Given the description of an element on the screen output the (x, y) to click on. 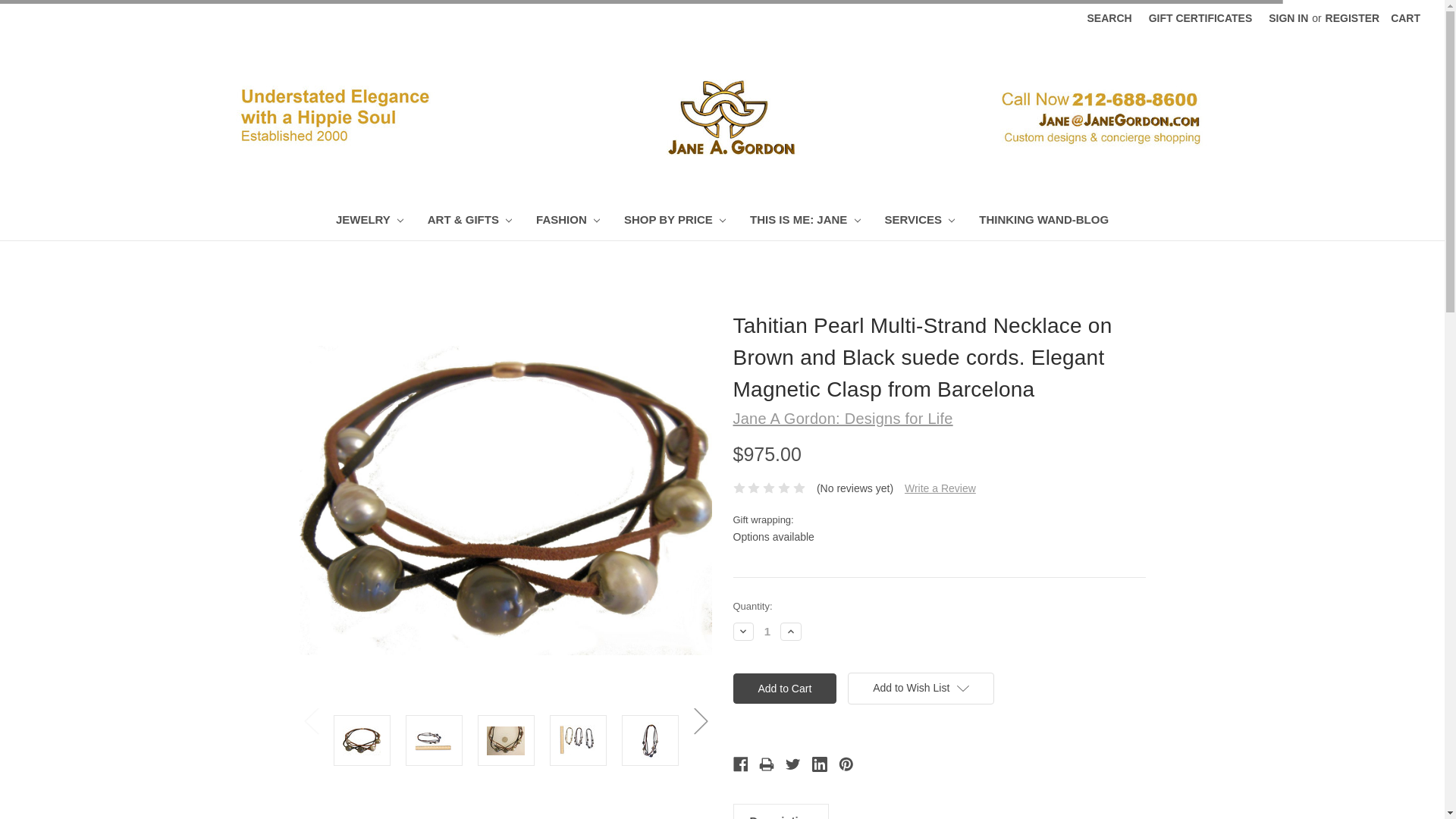
CART (1404, 18)
Jane A Gordon Jewelry - Designs for Life (721, 117)
1 (767, 631)
SEARCH (1109, 18)
JEWELRY (368, 221)
REGISTER (1353, 18)
